Given the description of an element on the screen output the (x, y) to click on. 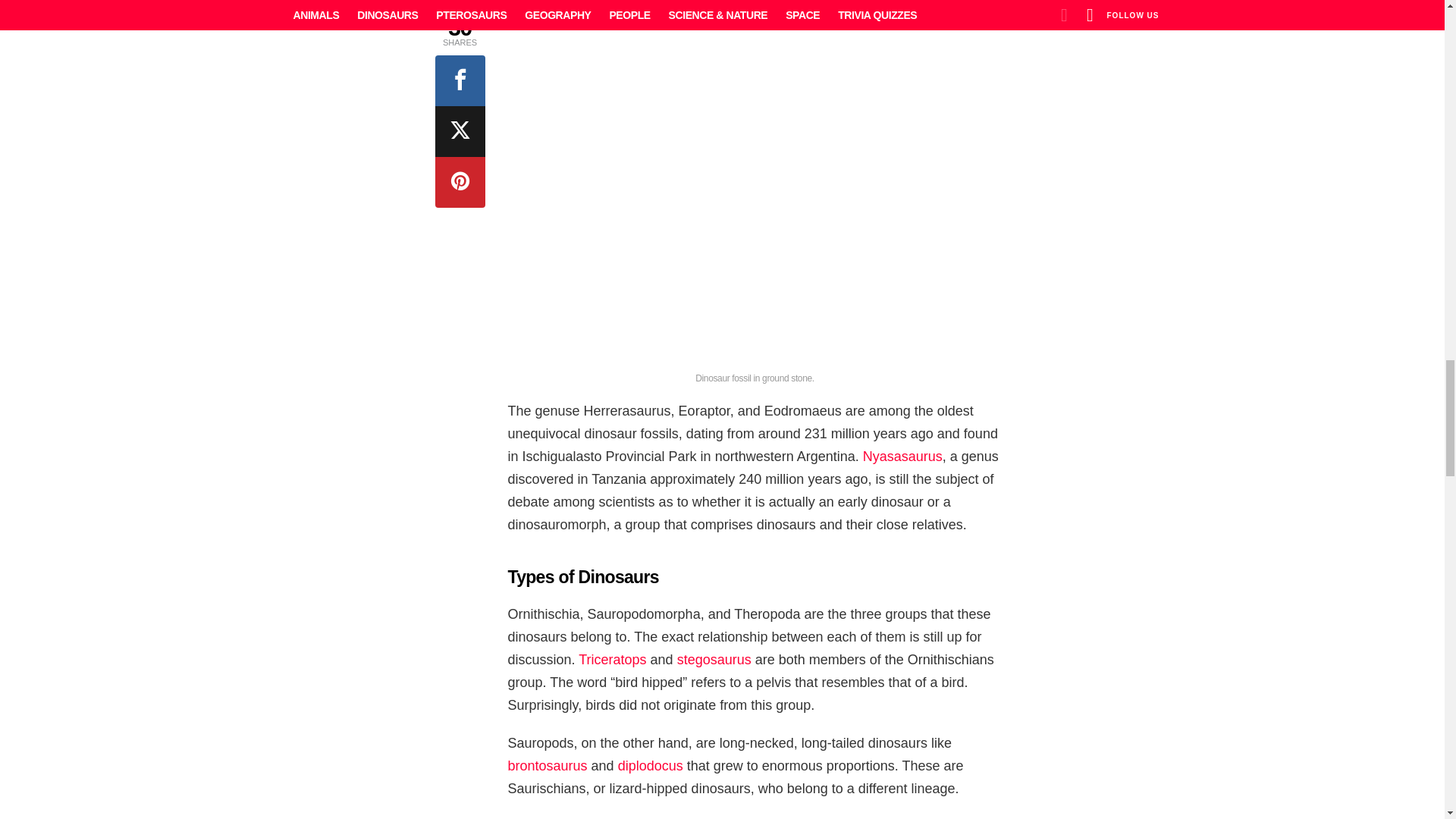
Triceratops (612, 659)
Nyasasaurus (902, 456)
stegosaurus (714, 659)
diplodocus (649, 765)
brontosaurus (548, 765)
